Given the description of an element on the screen output the (x, y) to click on. 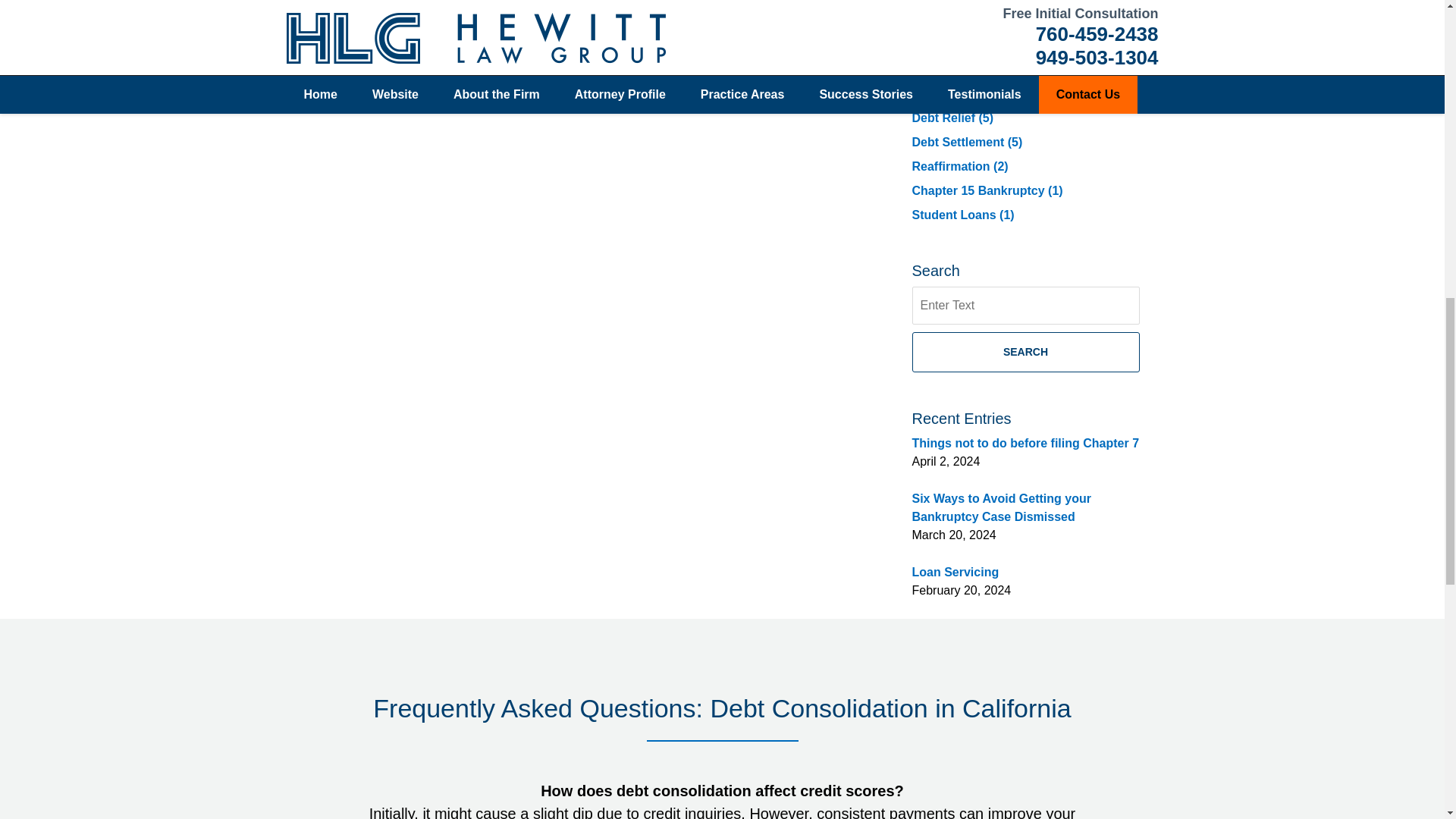
Home (388, 12)
Letters from Zwicker and Associates for collections? (443, 12)
